Given the description of an element on the screen output the (x, y) to click on. 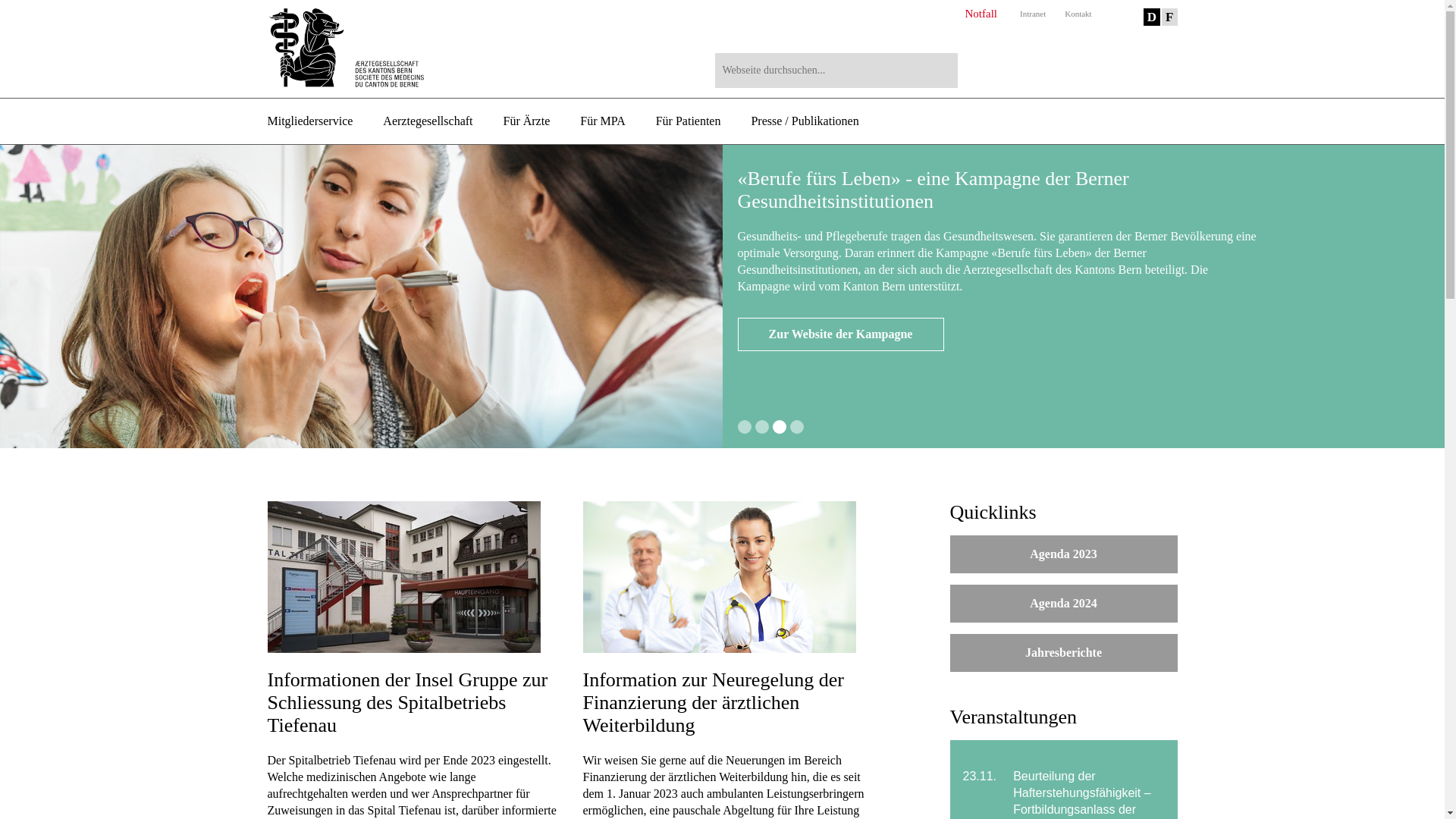
D Element type: text (1151, 16)
Notfall Element type: text (980, 13)
Mehr erfahren Element type: text (840, 334)
Agenda 2023 Element type: text (1062, 554)
2 Element type: text (761, 426)
Mitgliederservice Element type: text (309, 121)
23.11. Element type: text (982, 776)
Intranet Element type: text (1032, 13)
Aerztegesellschaft Element type: text (427, 121)
Agenda 2024 Element type: text (1062, 603)
1 Element type: text (743, 426)
3 Element type: text (778, 426)
Jahresberichte Element type: text (1062, 652)
Presse / Publikationen Element type: text (804, 121)
4 Element type: text (796, 426)
Kontakt Element type: text (1077, 13)
F Element type: text (1168, 16)
